Given the description of an element on the screen output the (x, y) to click on. 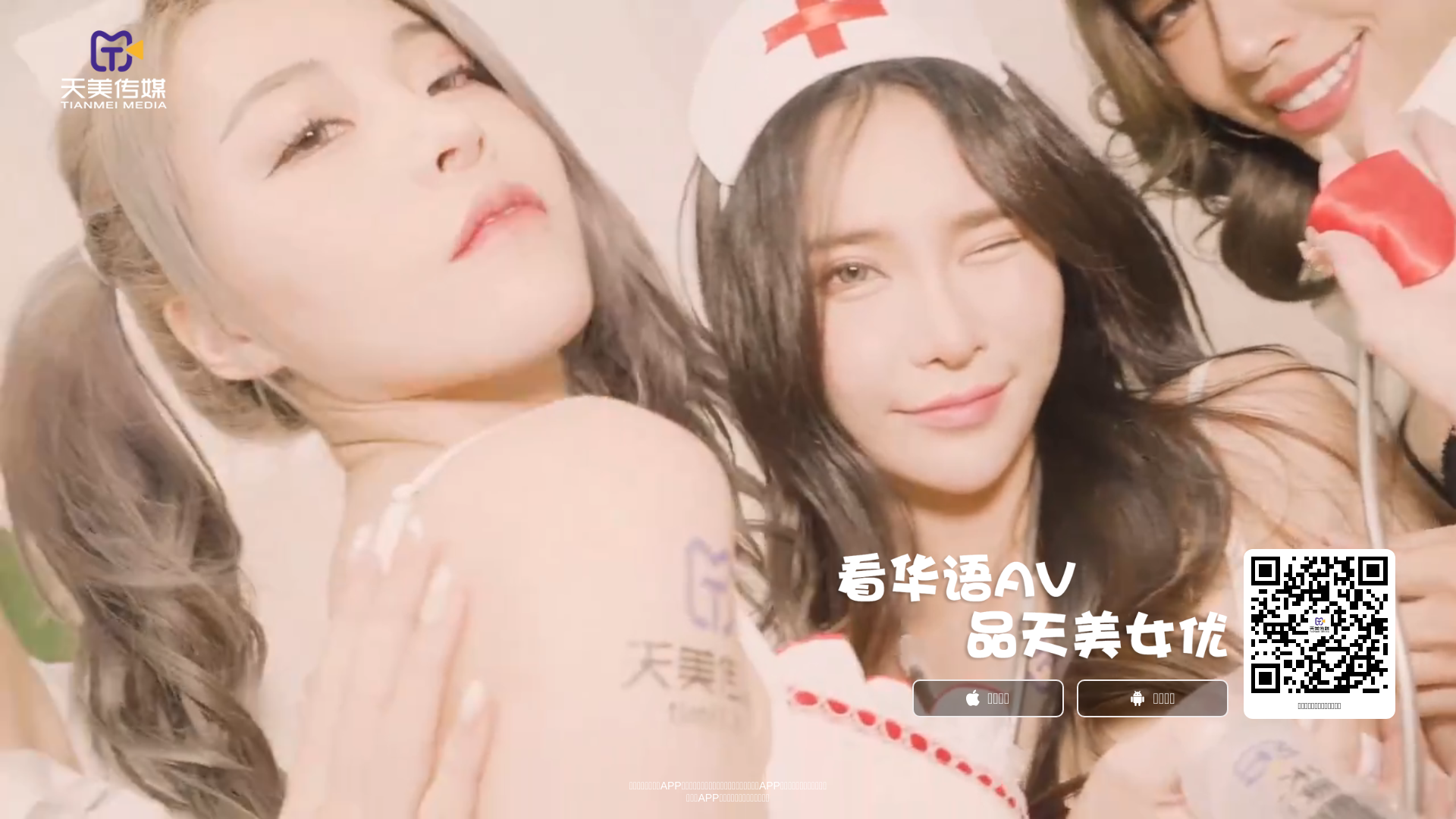
https://t.2tmm.cc/?_c=tbwtmgw02 Element type: hover (1319, 624)
